Given the description of an element on the screen output the (x, y) to click on. 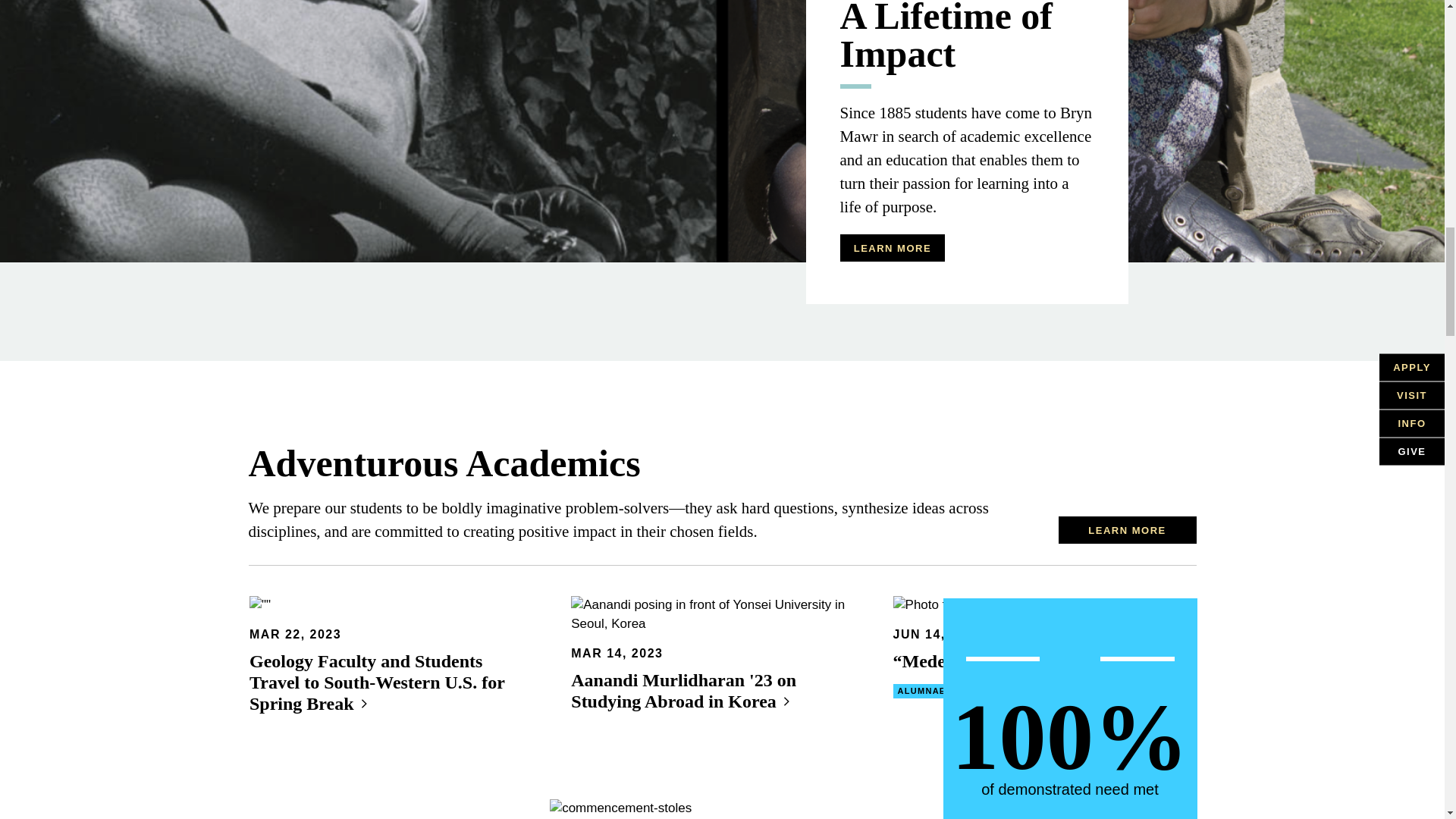
LEARN MORE (892, 247)
